Given the description of an element on the screen output the (x, y) to click on. 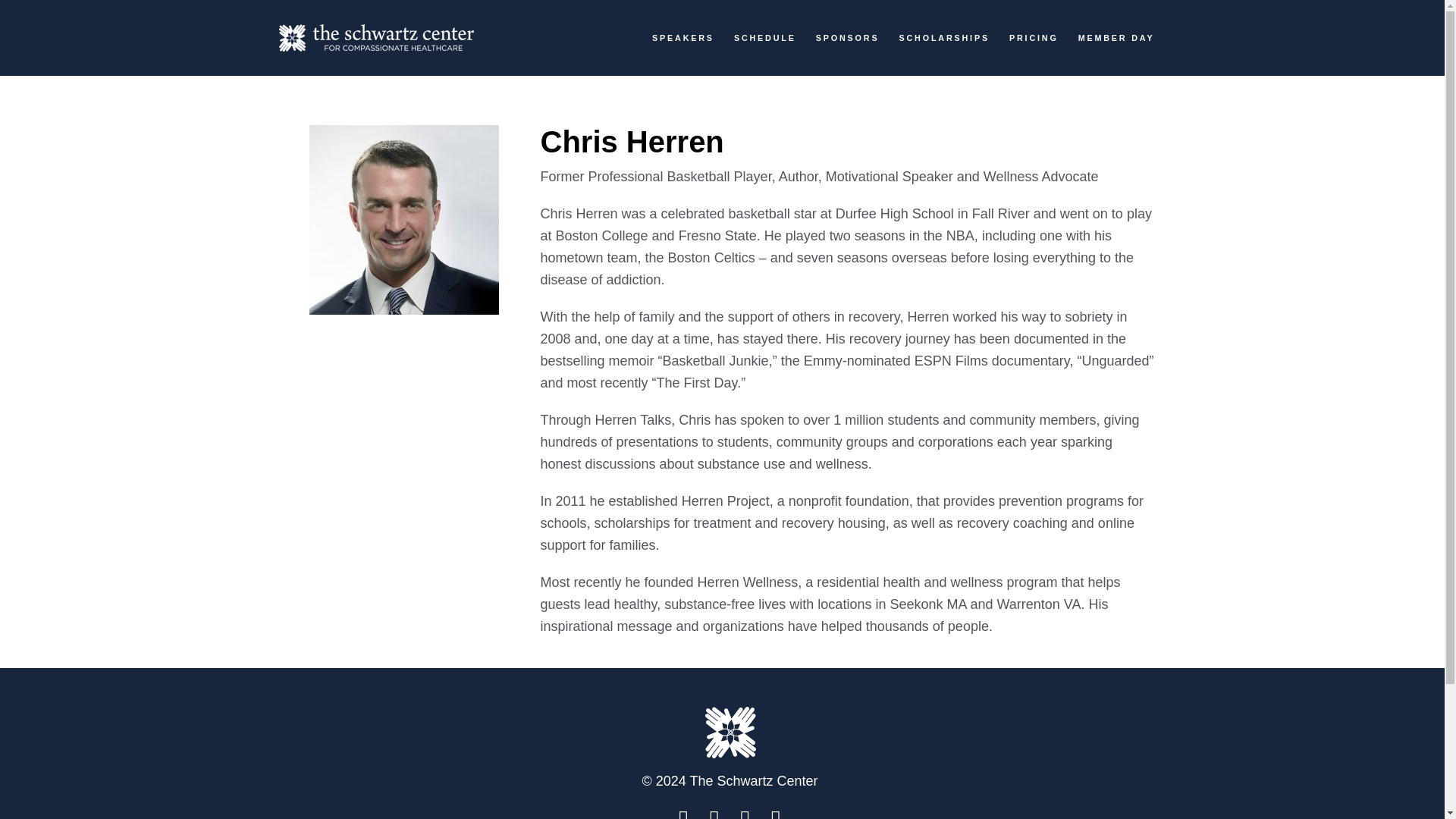
MEMBER DAY (1116, 38)
PRICING (1033, 38)
SPEAKERS (683, 38)
Search (964, 99)
SCHEDULE (764, 38)
SPONSORS (847, 38)
SCHOLARSHIPS (943, 38)
